Given the description of an element on the screen output the (x, y) to click on. 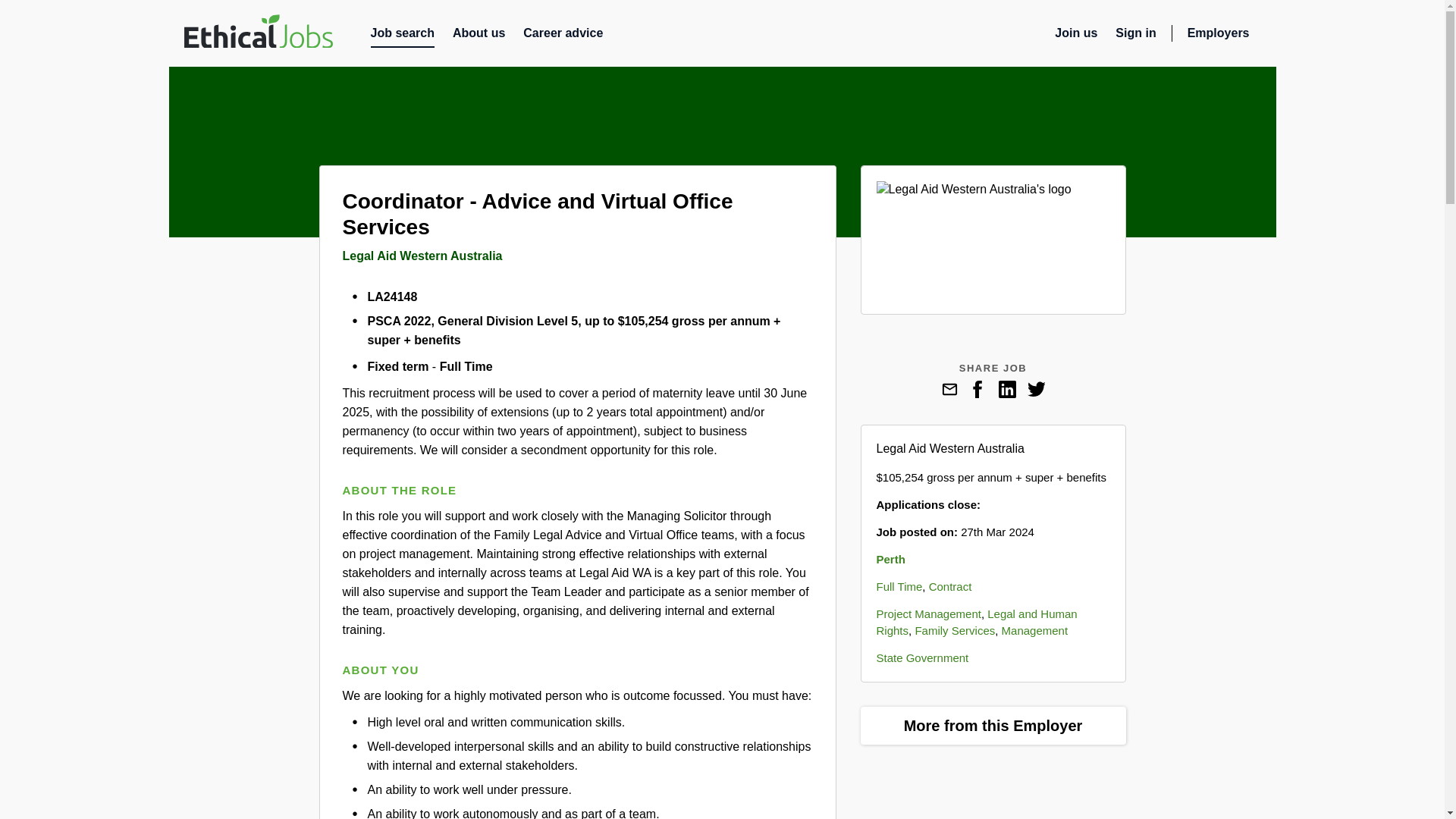
Sign in (1135, 36)
Employers (1224, 36)
Ethical Jobs Logo (257, 31)
Job search (401, 36)
Join us (1075, 36)
About us (478, 36)
Ethical Jobs Logo (257, 33)
Career advice (562, 36)
